Given the description of an element on the screen output the (x, y) to click on. 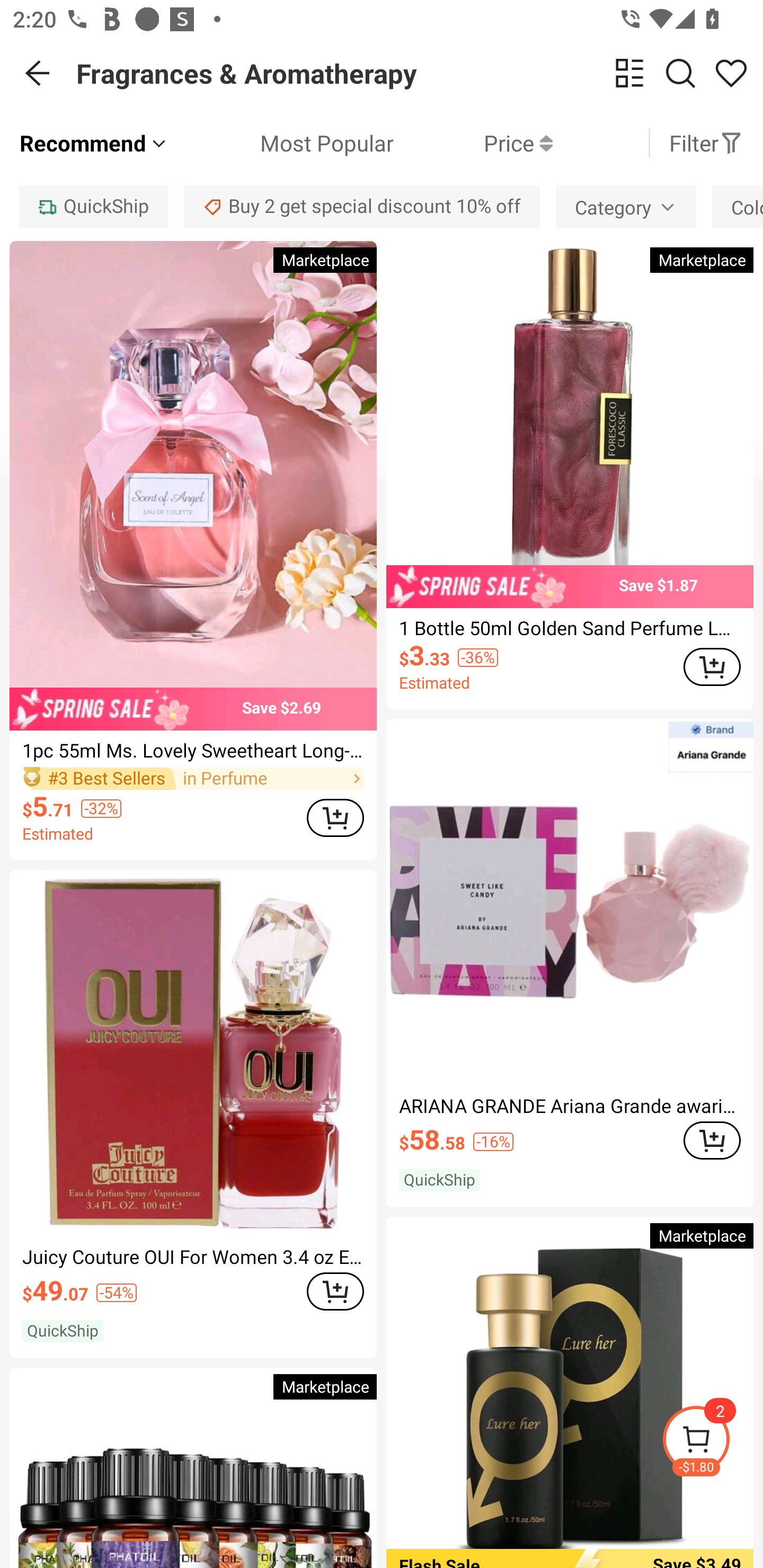
Fragrances & Aromatherapy change view Search Share (419, 72)
change view (629, 72)
Search (679, 72)
Share (730, 72)
Recommend (94, 143)
Most Popular (280, 143)
Price (472, 143)
Filter (705, 143)
QuickShip (93, 206)
Buy 2 get special discount 10% off (361, 206)
Category (625, 206)
ADD TO CART (711, 666)
#3 Best Sellers in Perfume (192, 778)
ADD TO CART (334, 817)
ADD TO CART (711, 1140)
ADD TO CART (334, 1290)
-$1.80 (712, 1441)
